Given the description of an element on the screen output the (x, y) to click on. 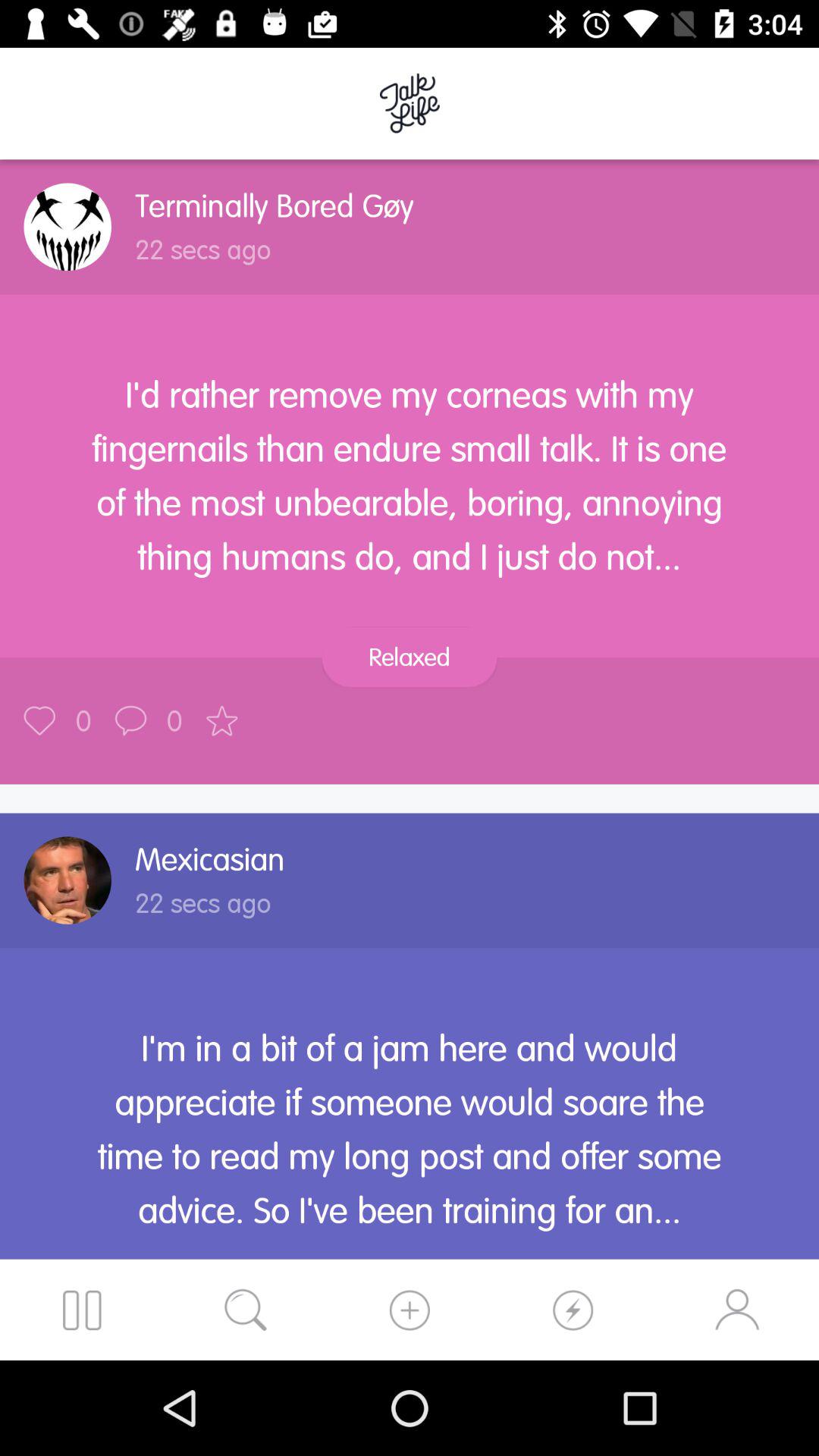
launch the item above 22 secs ago icon (274, 205)
